Given the description of an element on the screen output the (x, y) to click on. 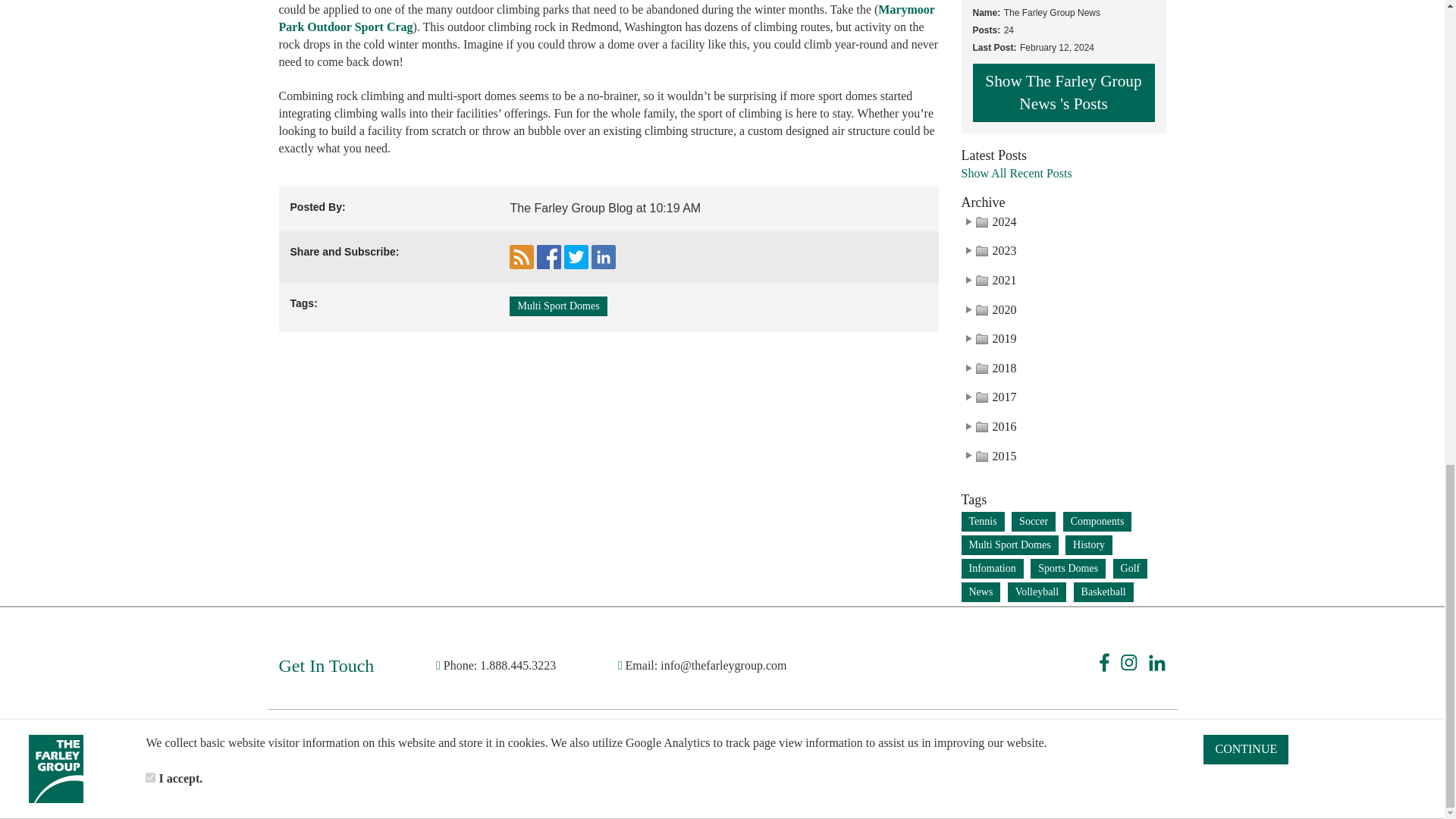
REM Web Solutions (842, 766)
Share on LinkedIn (603, 256)
Instagram (1129, 661)
Multi Sport Domes (558, 306)
Like on Facebook (548, 256)
Marymoor Park Outdoor Sport Crag (606, 18)
LinkedIn (1157, 661)
Tweet this! (576, 256)
Show All Recent Posts (1063, 173)
Show The Farley Group News 's Posts (1063, 92)
